Given the description of an element on the screen output the (x, y) to click on. 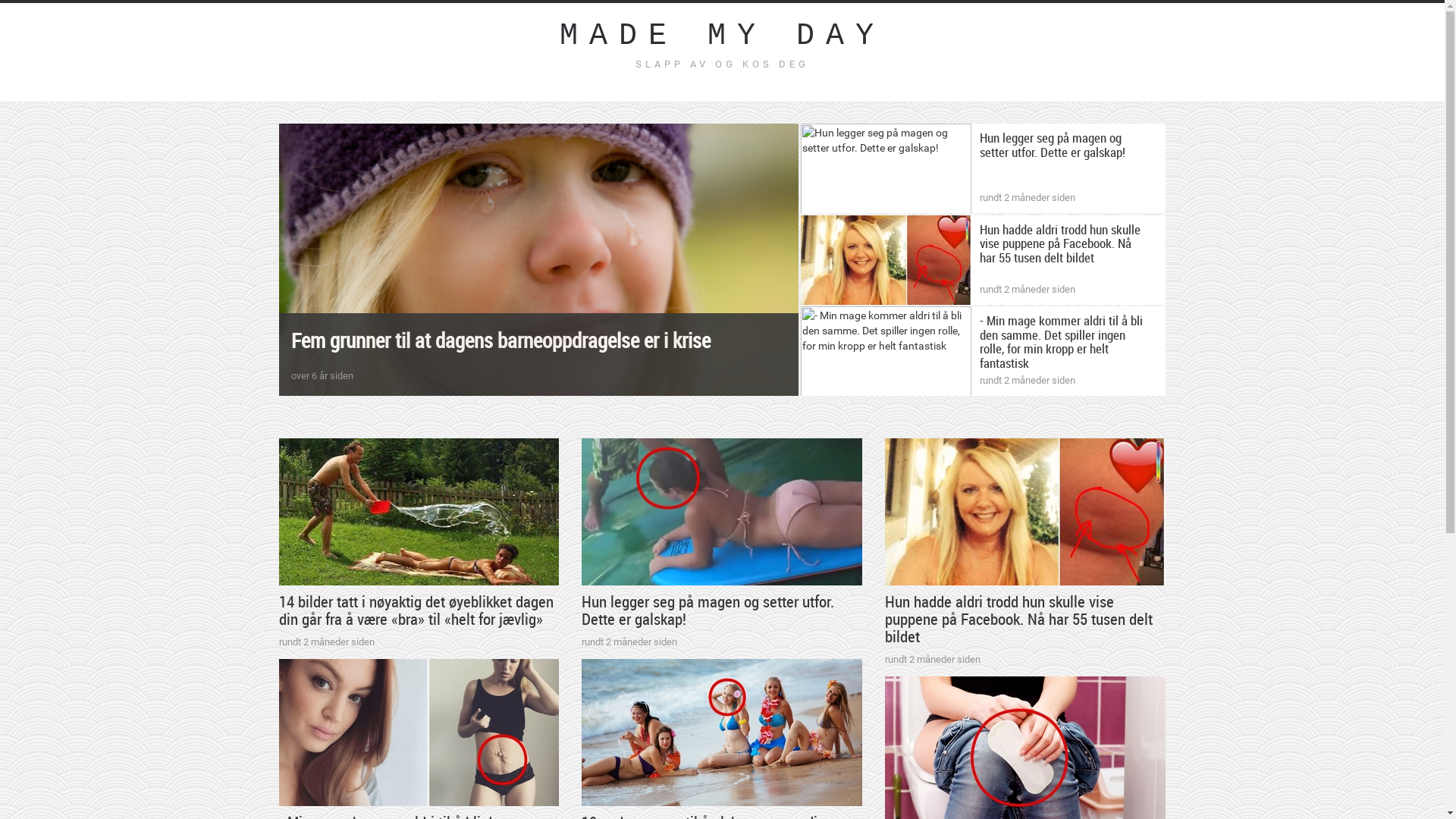
MADE MY DAY Element type: text (722, 35)
Fem grunner til at dagens barneoppdragelse er i krise Element type: text (500, 340)
